Given the description of an element on the screen output the (x, y) to click on. 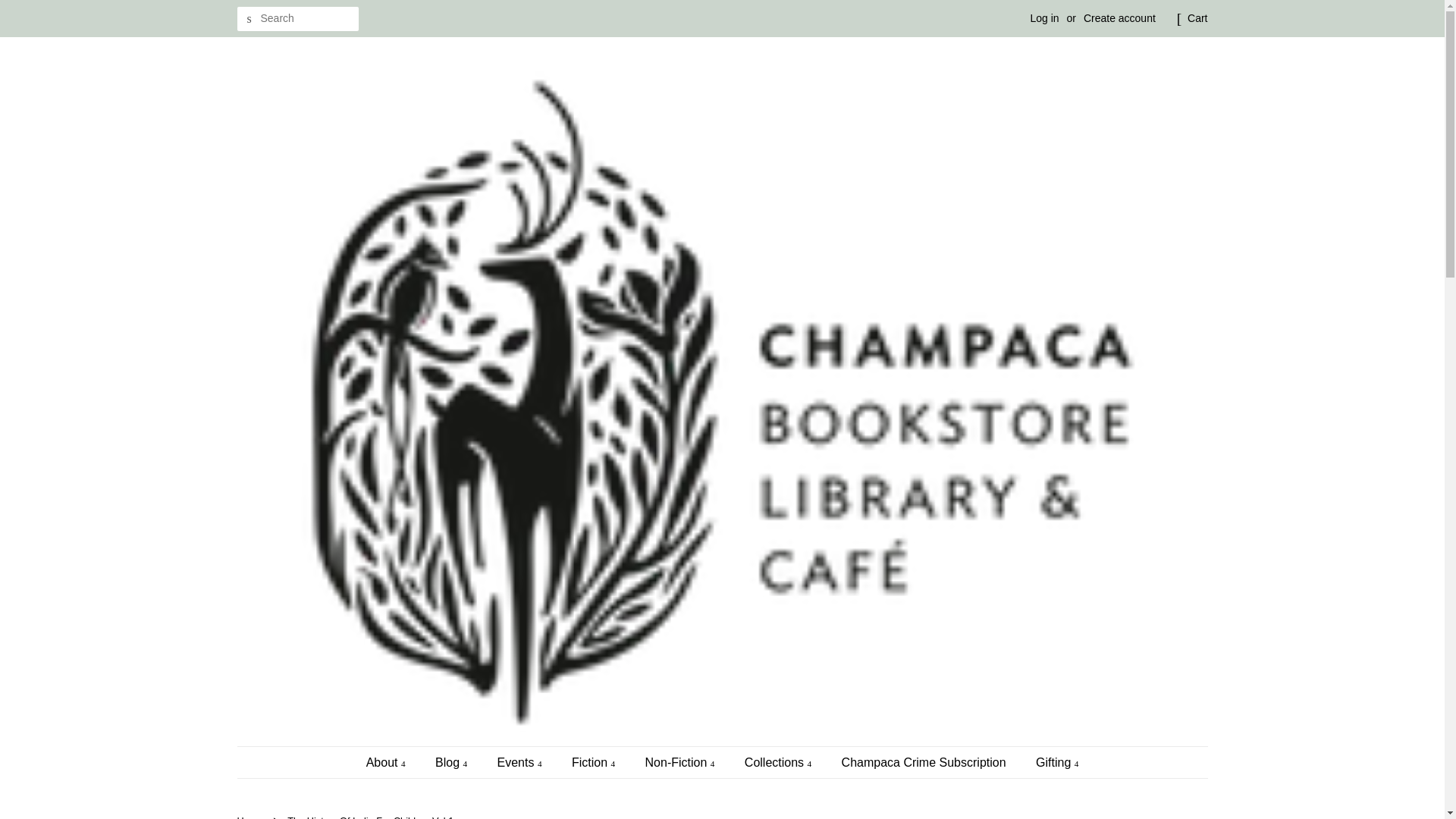
Log in (1043, 18)
Create account (1119, 18)
Search (247, 18)
Back to the frontpage (250, 816)
Cart (1197, 18)
